Given the description of an element on the screen output the (x, y) to click on. 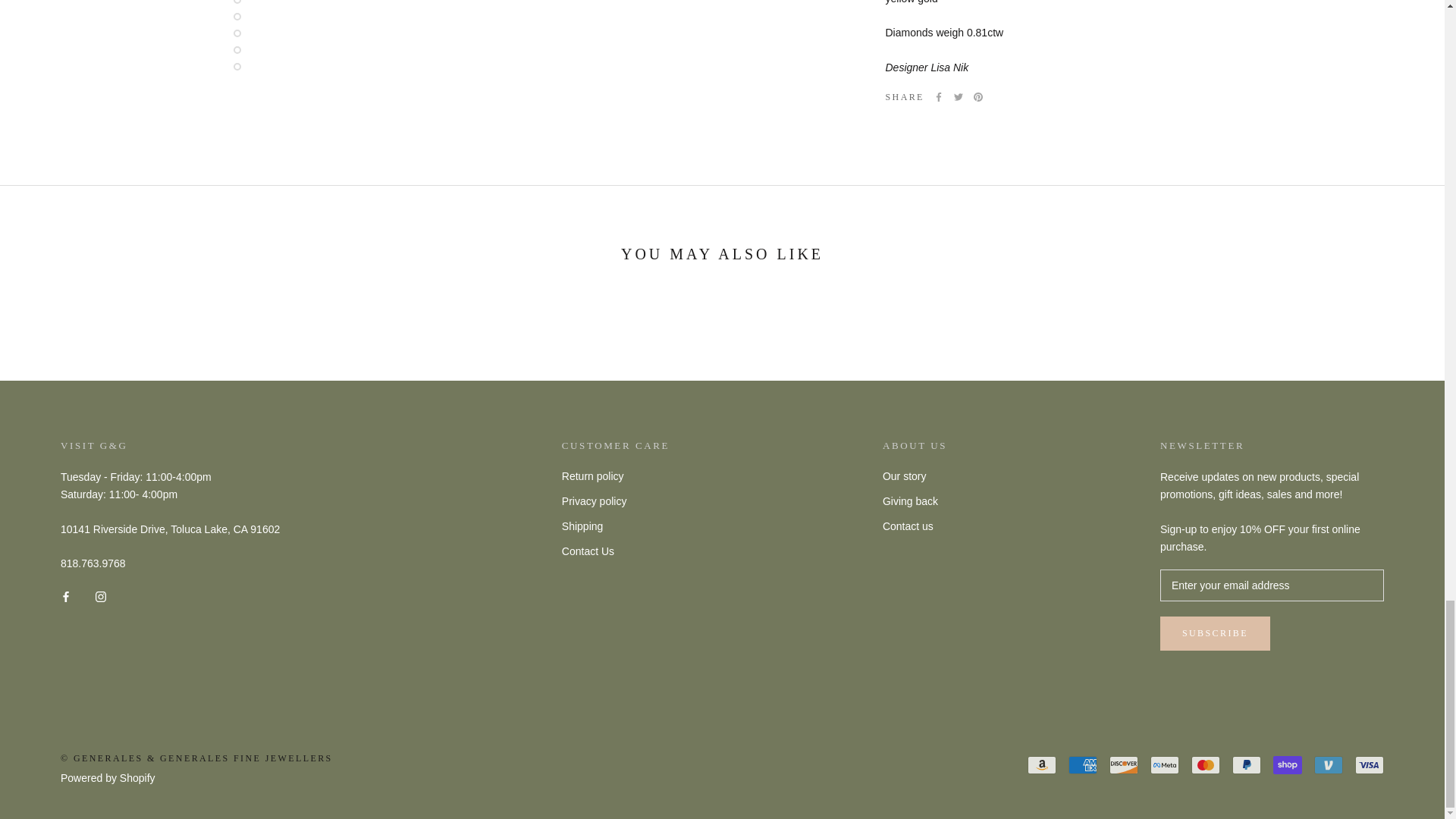
Meta Pay (1164, 764)
Mastercard (1205, 764)
American Express (1082, 764)
PayPal (1245, 764)
Shop Pay (1286, 764)
Visa (1369, 764)
Discover (1123, 764)
Amazon (1042, 764)
Venmo (1328, 764)
